Given the description of an element on the screen output the (x, y) to click on. 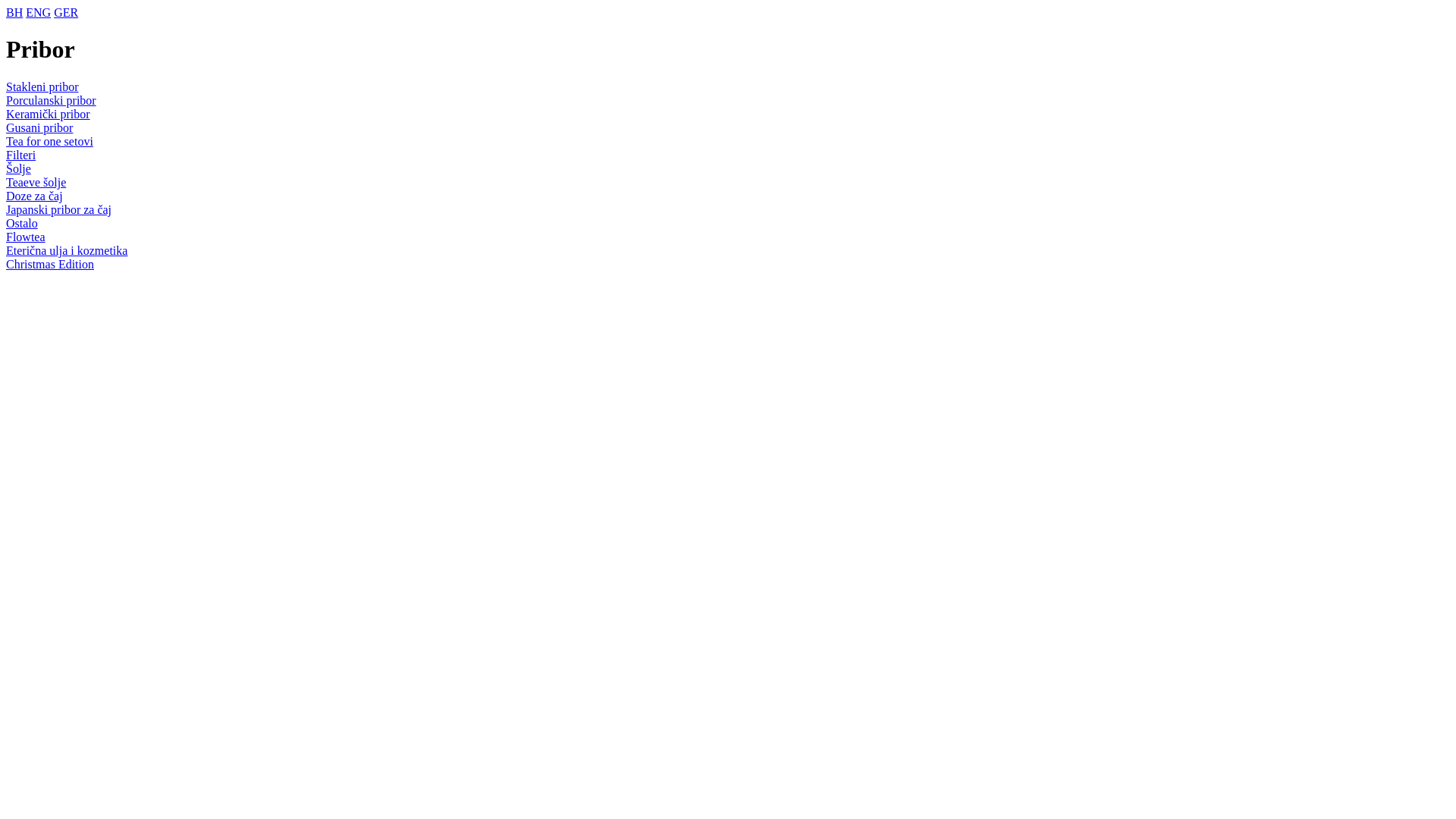
ENG Element type: text (37, 12)
Tea for one setovi Element type: text (49, 140)
Flowtea Element type: text (25, 236)
Christmas Edition Element type: text (50, 263)
Stakleni pribor Element type: text (42, 86)
GER Element type: text (65, 12)
Porculanski pribor Element type: text (51, 100)
Gusani pribor Element type: text (39, 127)
BH Element type: text (14, 12)
Ostalo Element type: text (21, 222)
Filteri Element type: text (20, 154)
